Given the description of an element on the screen output the (x, y) to click on. 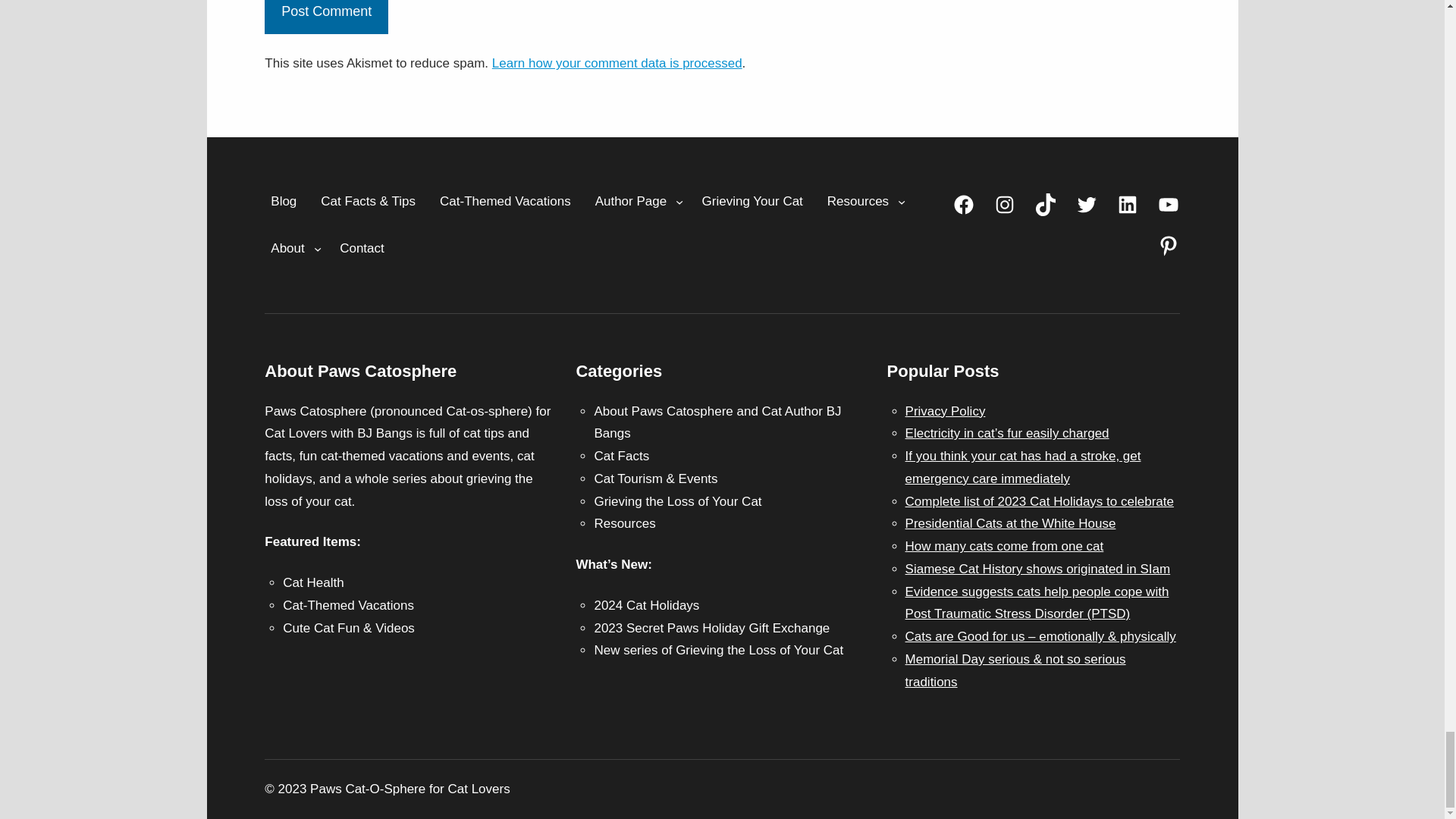
Grieving the Loss of Your Cat (752, 201)
Cat Facts and Tips (368, 201)
Post Comment (326, 17)
Resources for cats and their humans (858, 201)
